Given the description of an element on the screen output the (x, y) to click on. 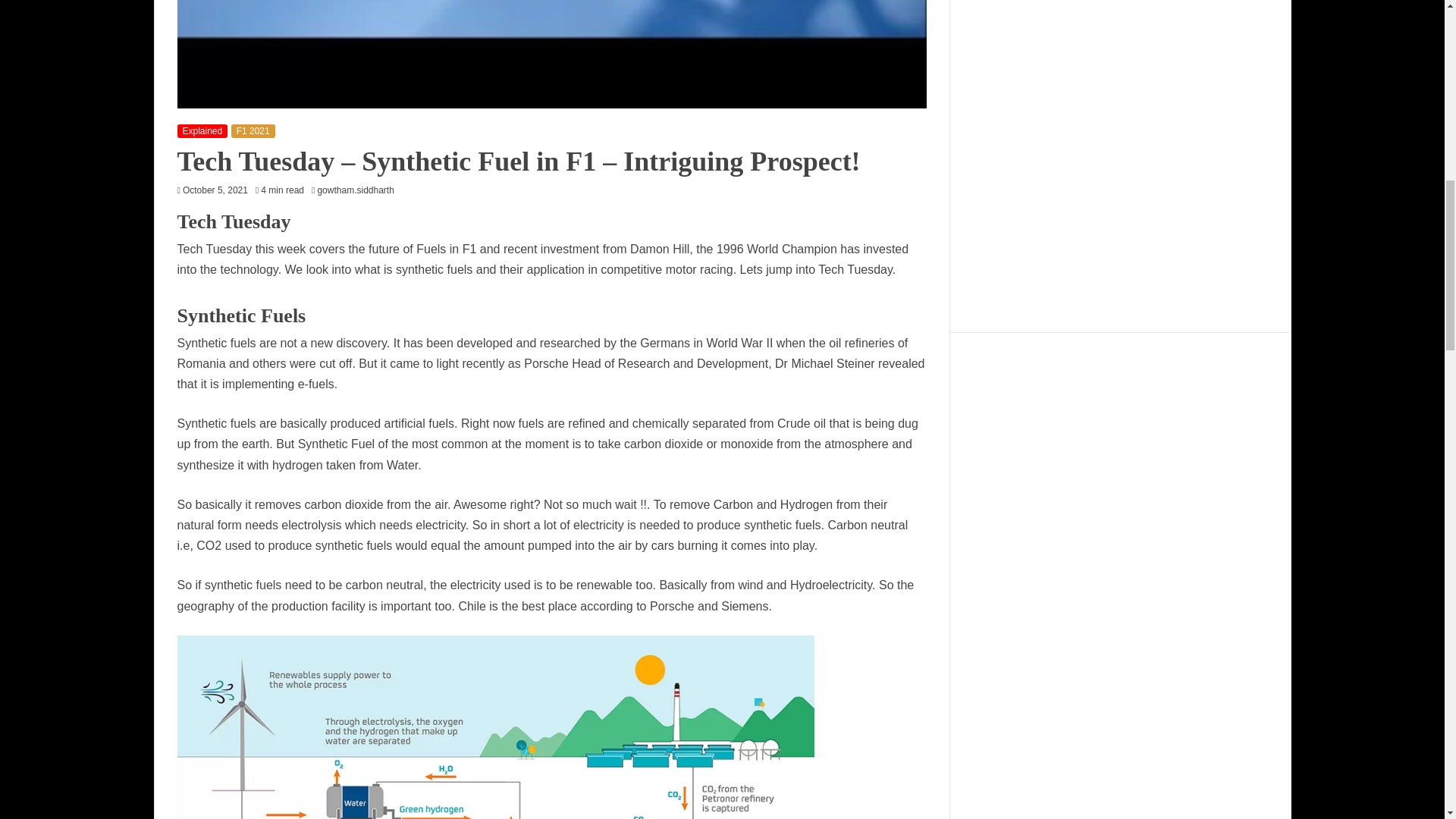
gowtham.siddharth (359, 190)
October 5, 2021 (215, 190)
Explained (202, 131)
F1 2021 (253, 131)
AllF1.in (1119, 145)
